Given the description of an element on the screen output the (x, y) to click on. 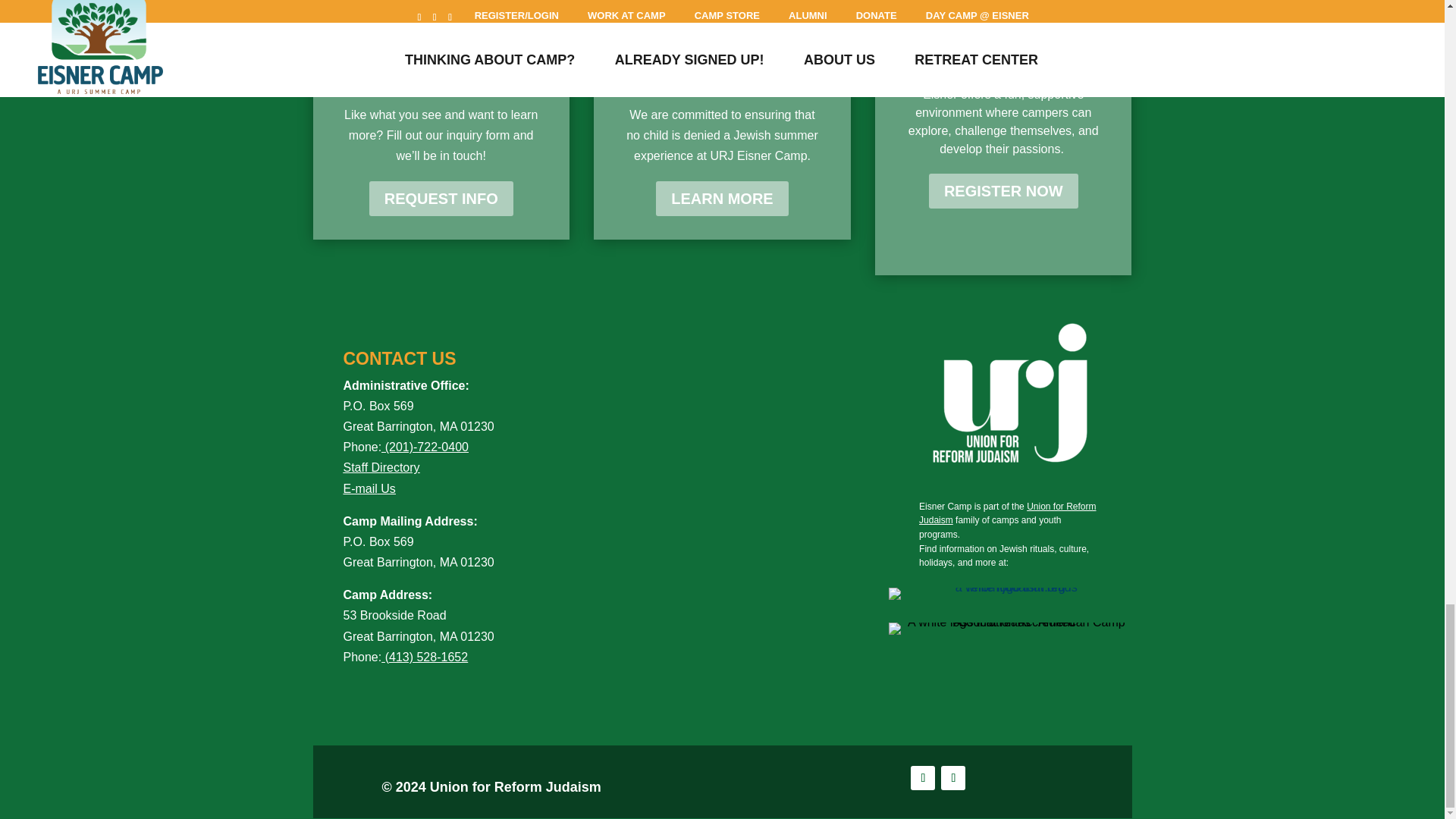
LEARN MORE (721, 198)
53 Brookside Road (393, 615)
Follow on Instagram (952, 777)
REQUEST INFO (441, 198)
Staff Directory (380, 467)
E-mail Us (380, 498)
Union for Reform Judaism (1007, 513)
REGISTER NOW (1003, 190)
ACA-Logo (1009, 628)
Follow on Facebook (922, 777)
